Given the description of an element on the screen output the (x, y) to click on. 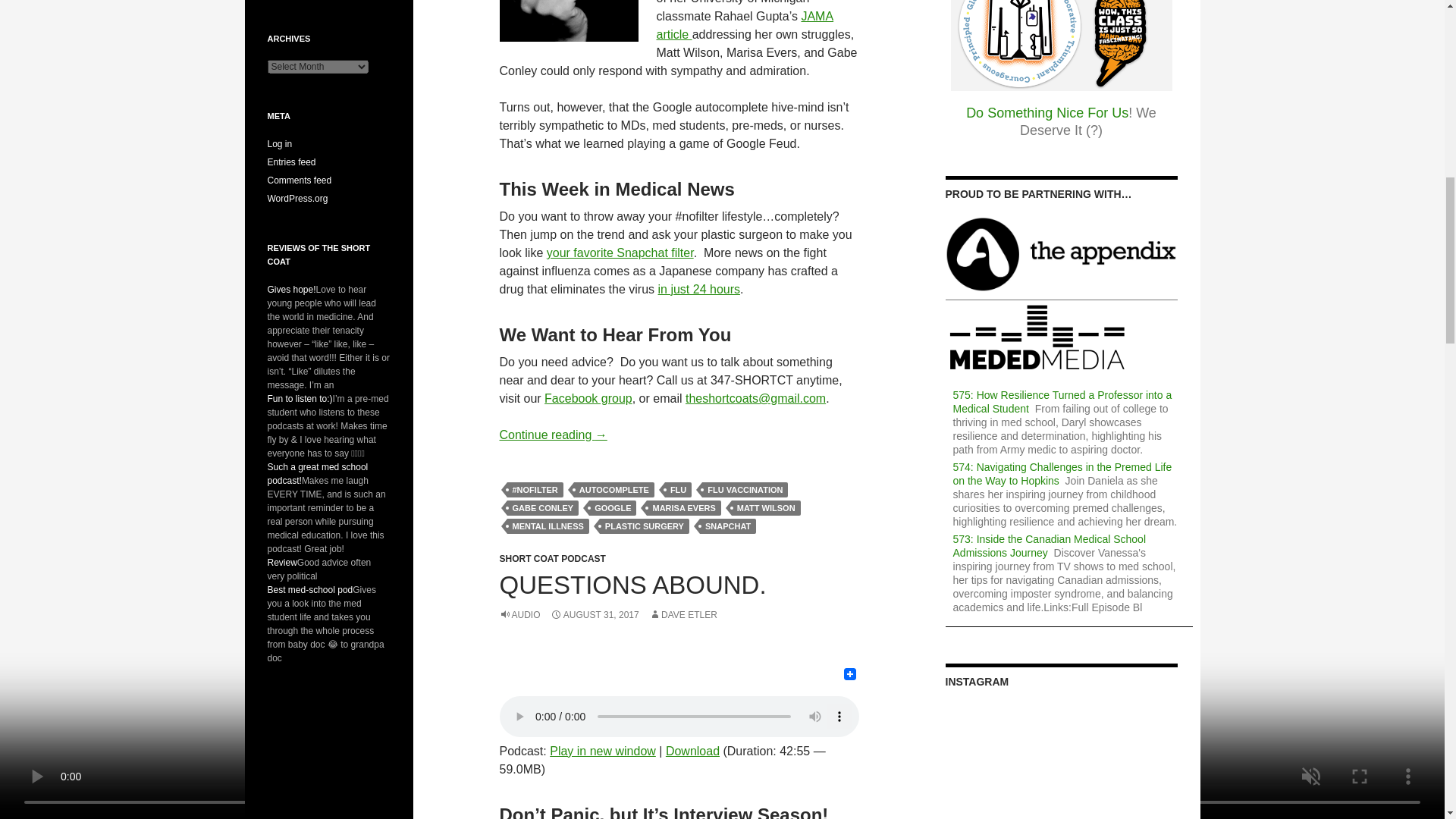
Photo by LoganArt (568, 20)
your favorite Snapchat filter (620, 252)
FLU (678, 489)
Facebook group (587, 398)
GABE CONLEY (542, 507)
in just 24 hours (699, 288)
JAMA article (745, 24)
Play in new window (603, 750)
FLU VACCINATION (744, 489)
AUTOCOMPLETE (613, 489)
